Given the description of an element on the screen output the (x, y) to click on. 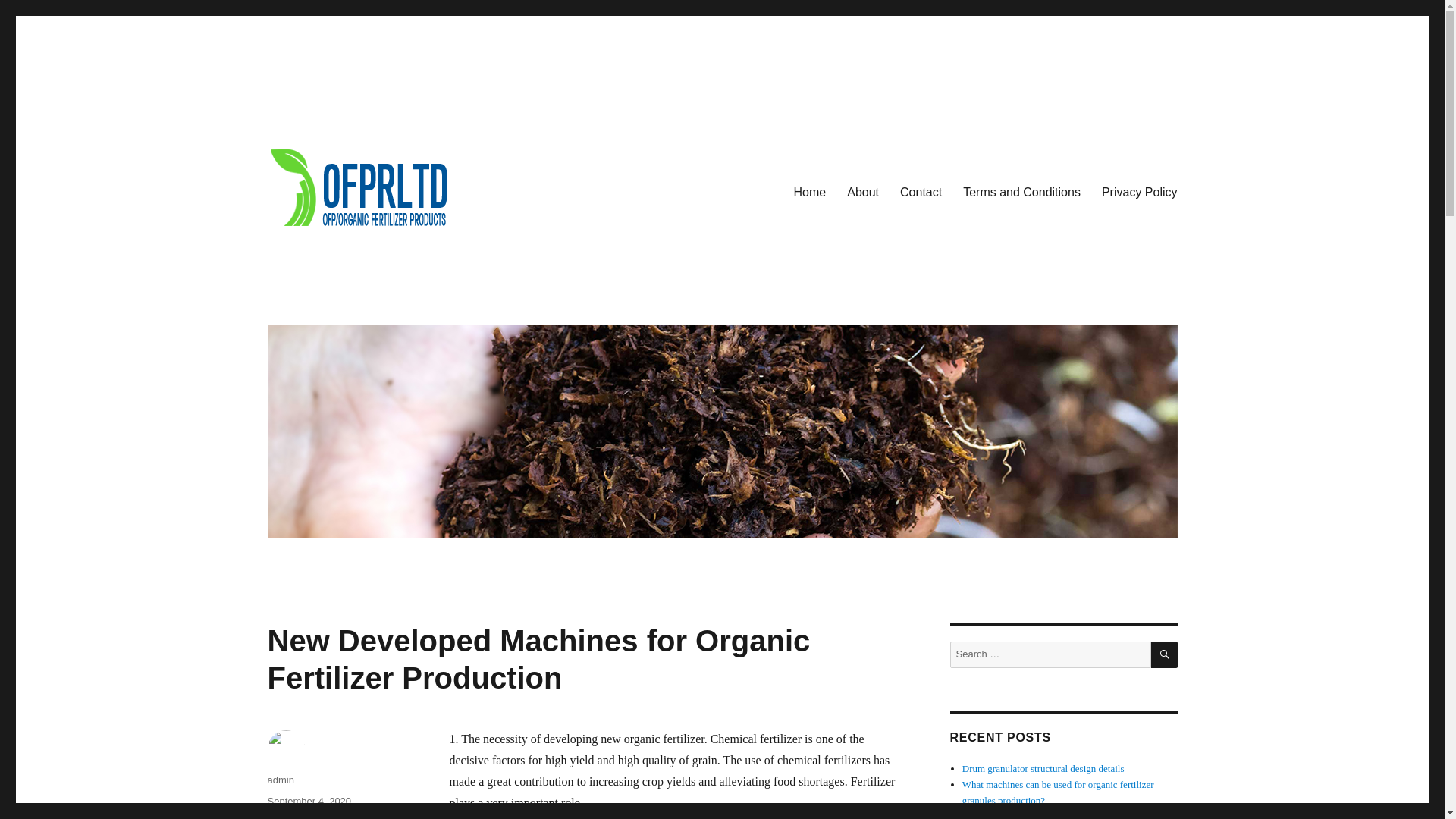
Equipment (290, 817)
Orgnaic Fertilizer (357, 817)
SEARCH (1164, 654)
Home (810, 192)
Drum granulator structural design details (1043, 767)
Privacy Policy (1139, 192)
September 4, 2020 (308, 800)
About (862, 192)
admin (280, 779)
